Given the description of an element on the screen output the (x, y) to click on. 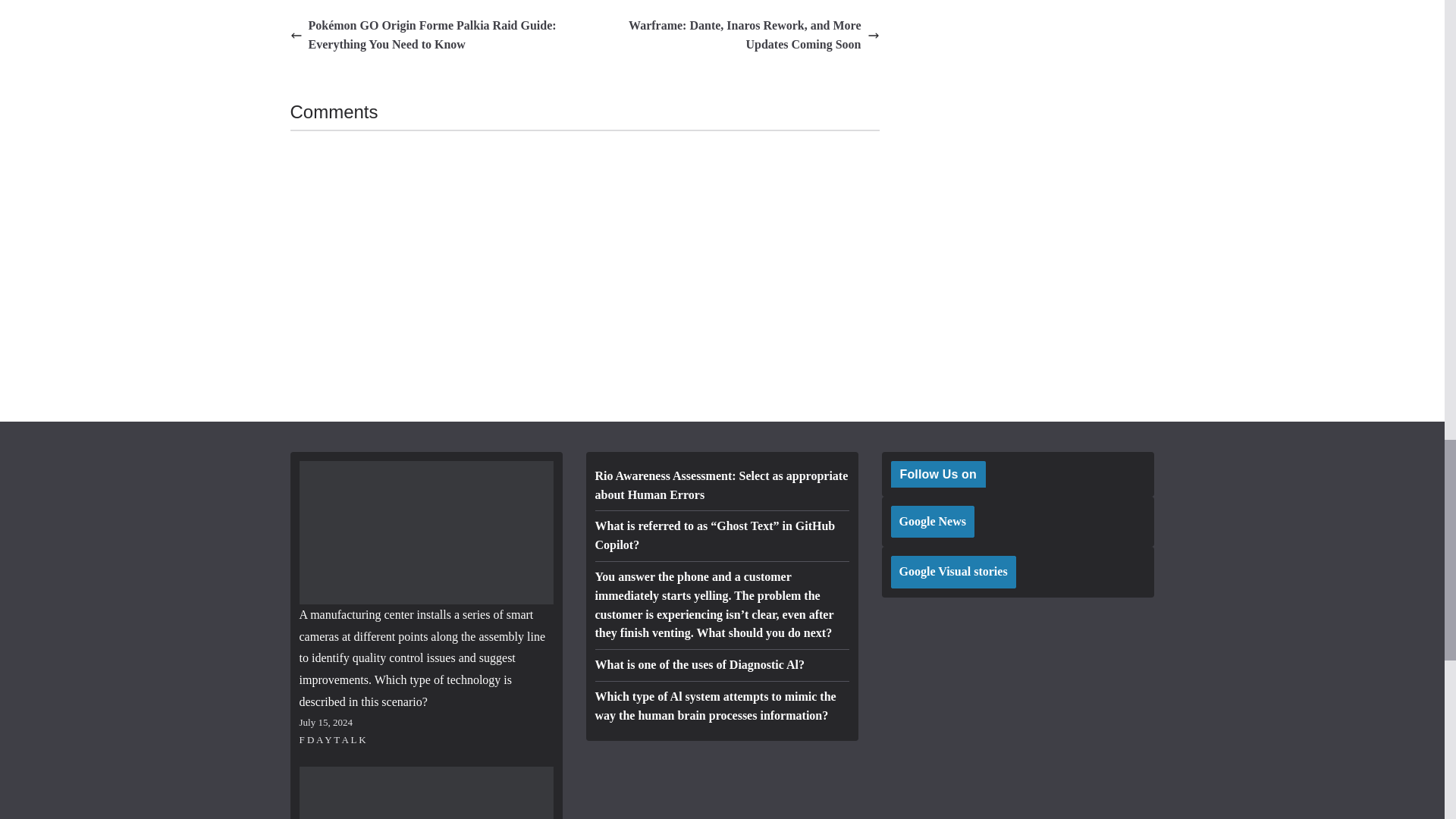
Warframe: Dante, Inaros Rework, and More Updates Coming Soon (735, 35)
